Given the description of an element on the screen output the (x, y) to click on. 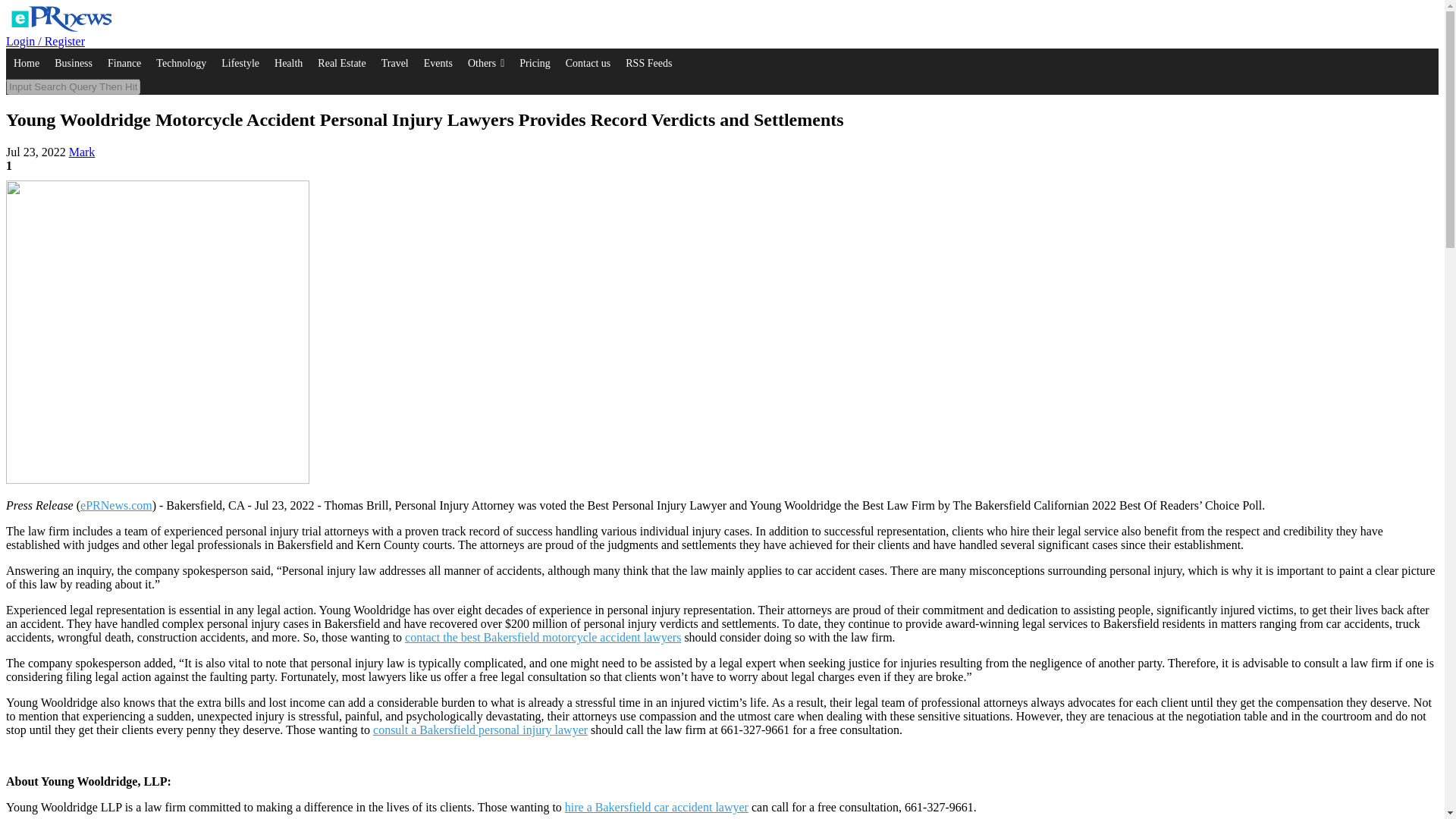
Real Estate (341, 63)
Others (486, 63)
contact the best Bakersfield motorcycle accident lawyers (542, 636)
hire a Bakersfield car accident lawyer (656, 807)
Technology (181, 63)
RSS Feeds (648, 63)
Business (73, 63)
ePRNews.com (116, 504)
consult a Bakersfield personal injury lawyer (480, 729)
Mark (82, 151)
Lifestyle (240, 63)
Travel (395, 63)
Finance (124, 63)
Contact us (587, 63)
Home (25, 63)
